Given the description of an element on the screen output the (x, y) to click on. 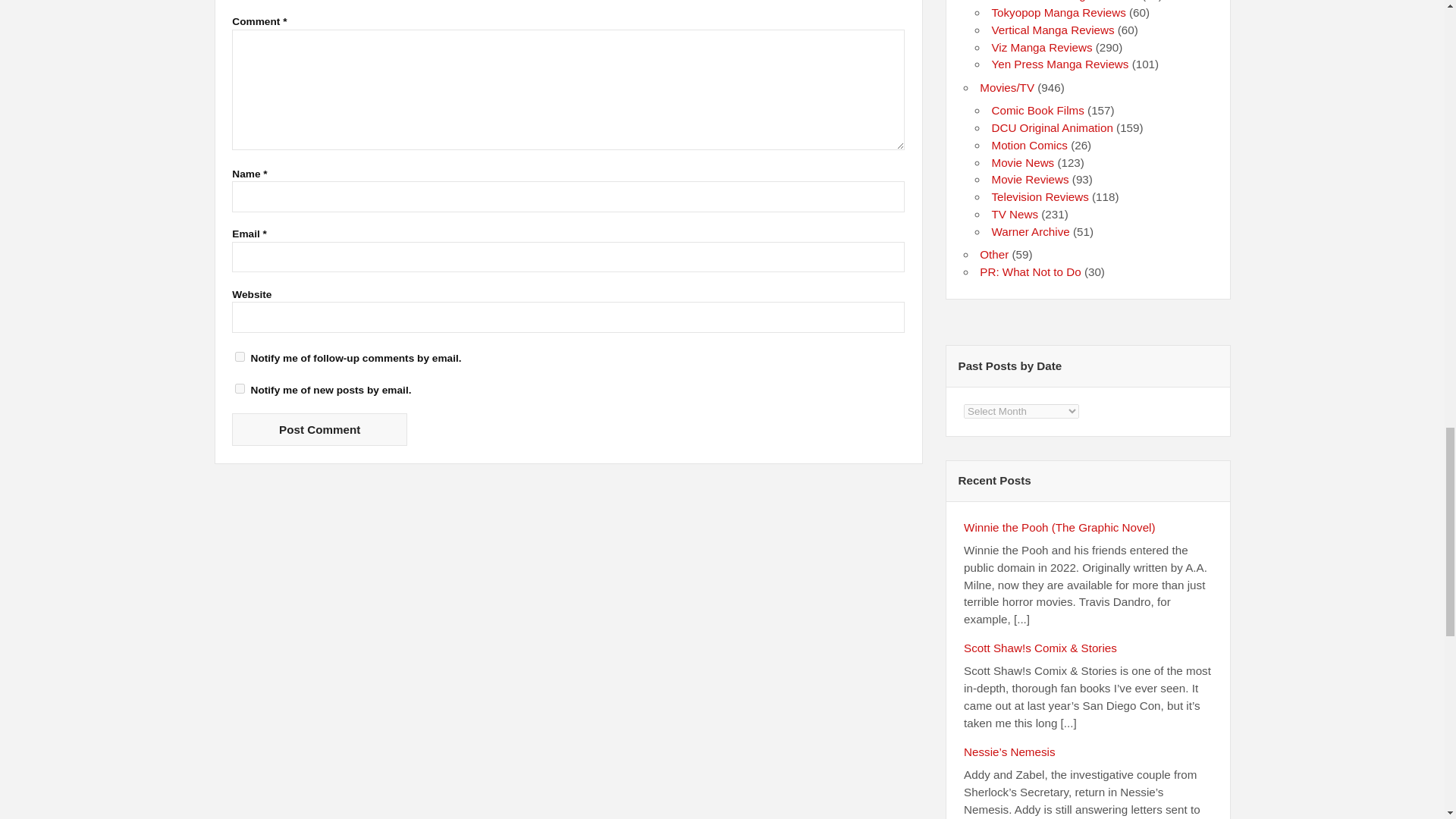
subscribe (239, 388)
subscribe (239, 356)
Post Comment (319, 429)
